Given the description of an element on the screen output the (x, y) to click on. 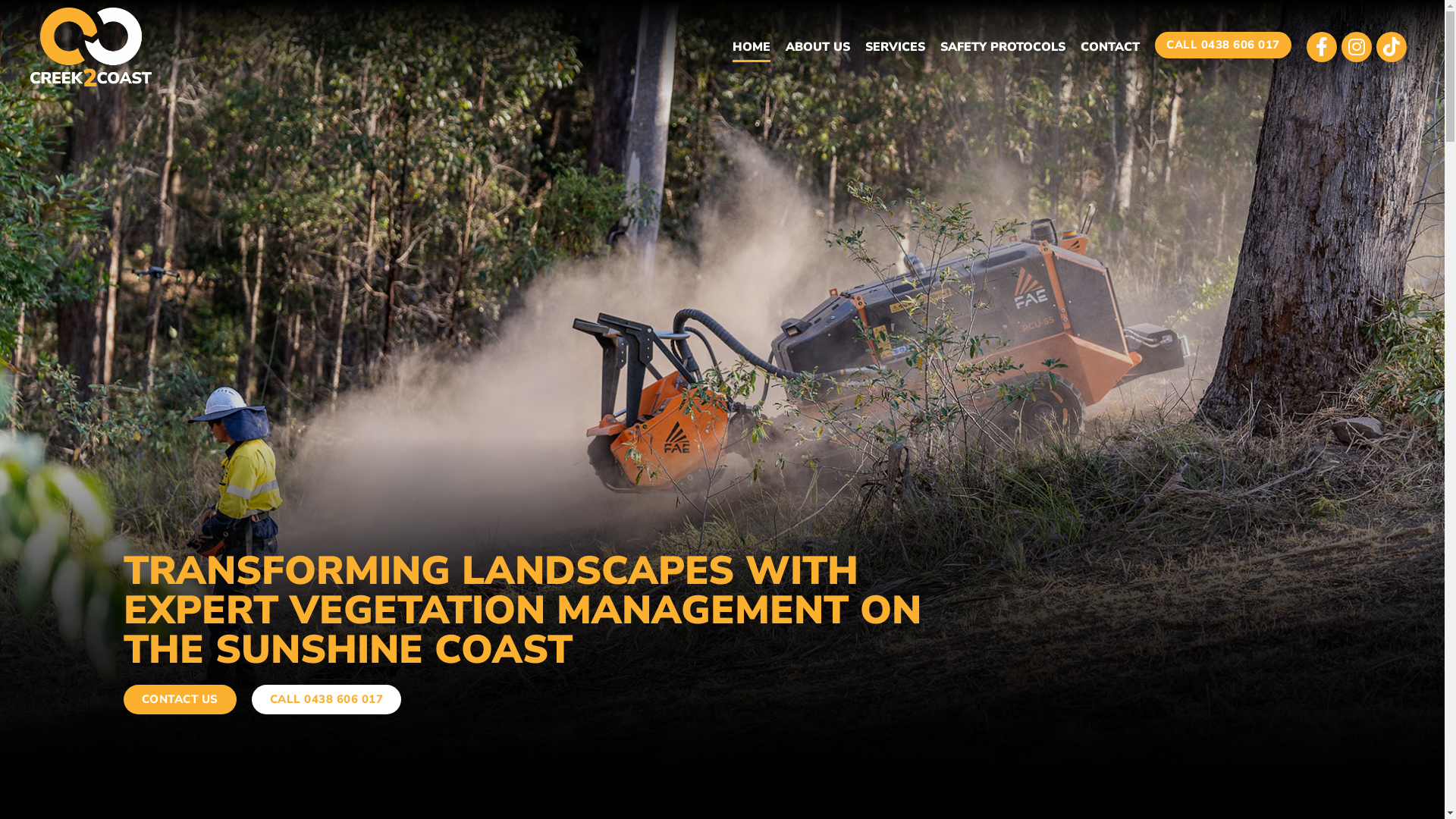
SERVICES Element type: text (895, 46)
ABOUT US Element type: text (817, 46)
CONTACT Element type: text (1109, 46)
CONTACT US Element type: text (178, 699)
CALL 0438 606 017 Element type: text (1222, 44)
HOME Element type: text (751, 46)
SAFETY PROTOCOLS Element type: text (1002, 46)
CALL 0438 606 017 Element type: text (326, 699)
